Given the description of an element on the screen output the (x, y) to click on. 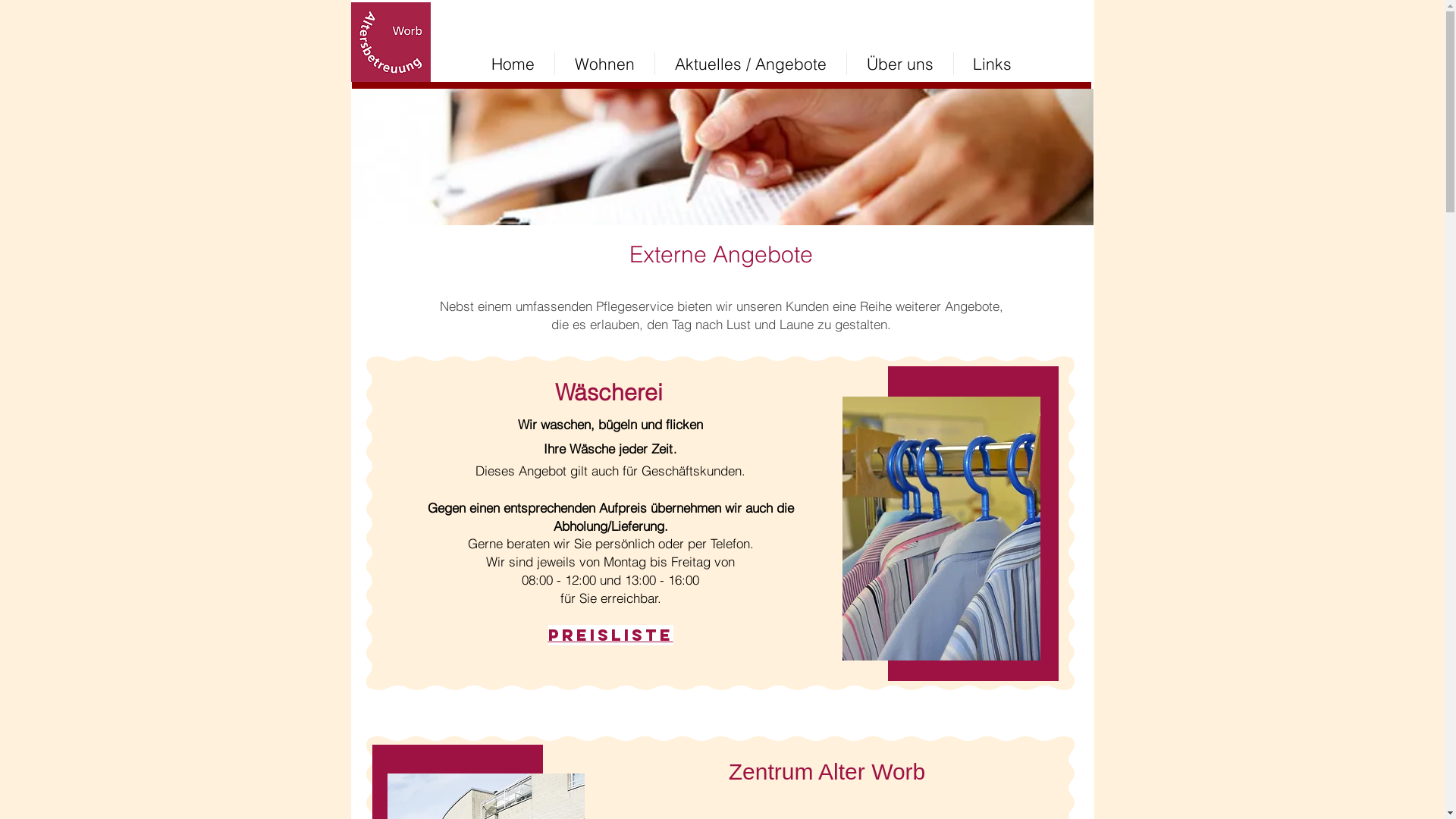
Wohnen Element type: text (604, 63)
Home Element type: text (512, 63)
Links Element type: text (992, 63)
Aktuelles / Angebote Element type: text (750, 63)
PREISLISTE Element type: text (609, 635)
